Given the description of an element on the screen output the (x, y) to click on. 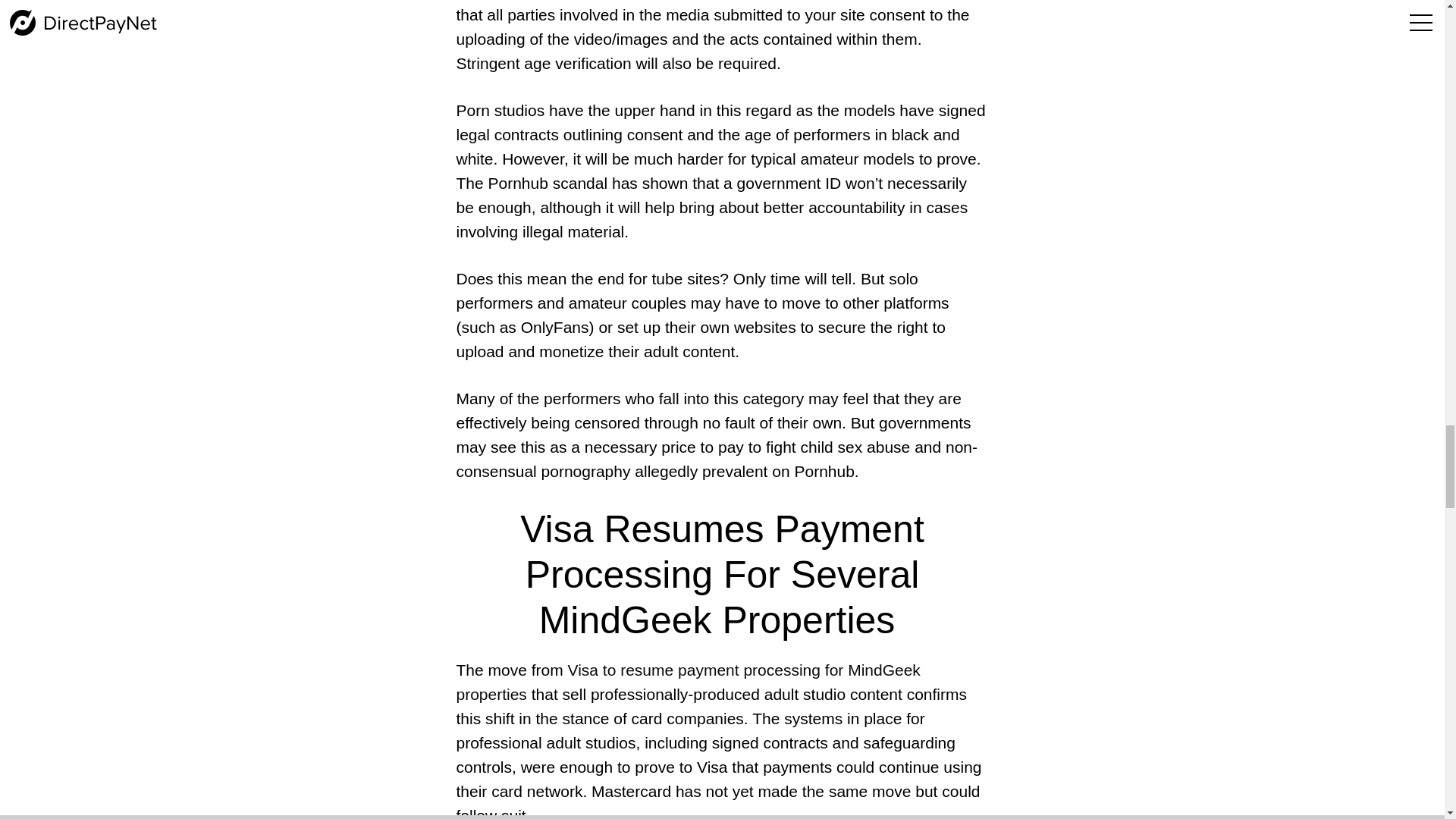
Visa to resume payment processing for MindGeek properties (687, 681)
